Given the description of an element on the screen output the (x, y) to click on. 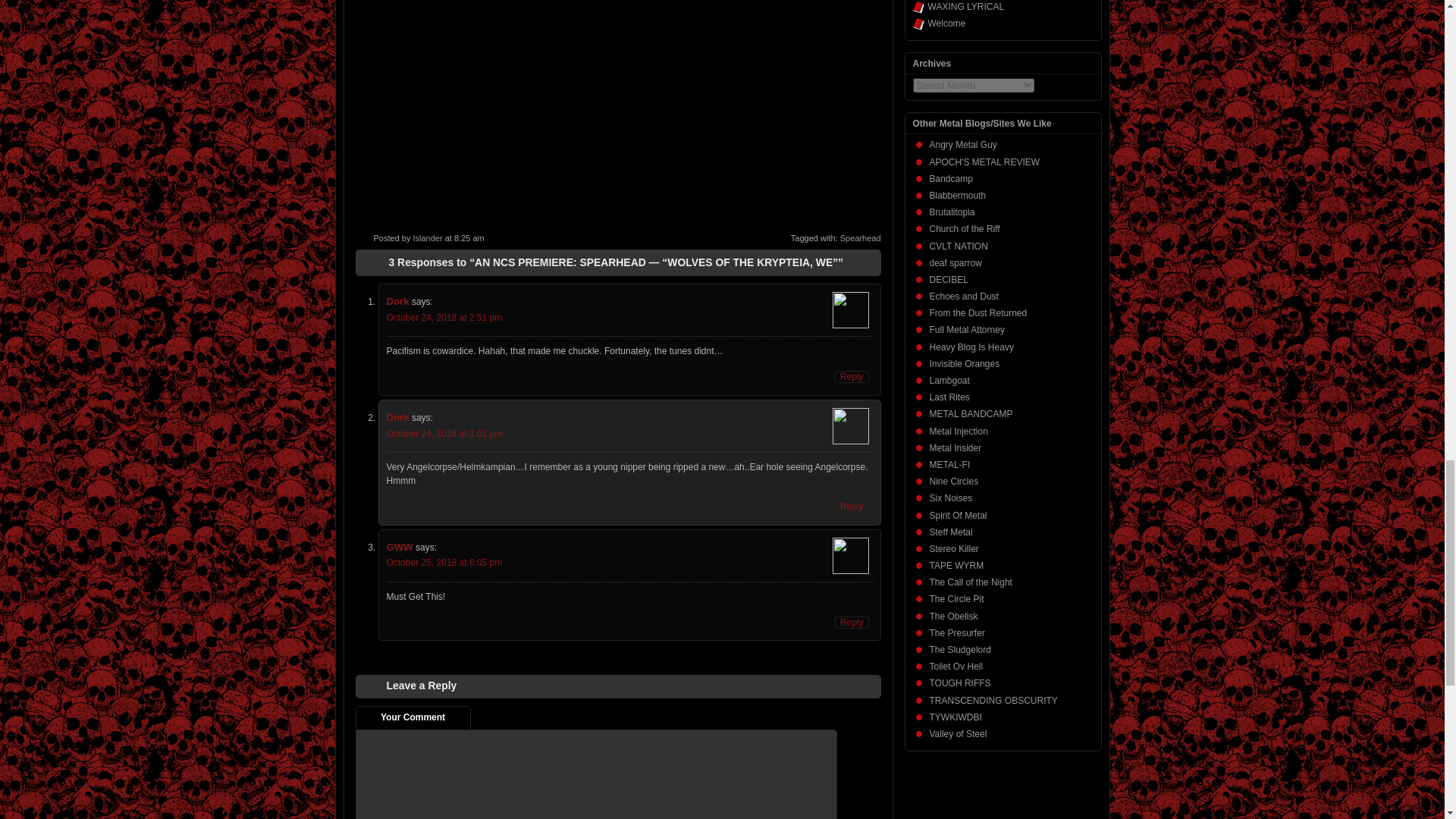
October 24, 2018 at 2:51 pm (444, 317)
Reply (851, 506)
Reply (851, 622)
October 25, 2018 at 6:05 pm (444, 562)
Spearhead (860, 237)
Islander (427, 237)
October 24, 2018 at 3:01 pm (444, 433)
Reply (851, 377)
